Given the description of an element on the screen output the (x, y) to click on. 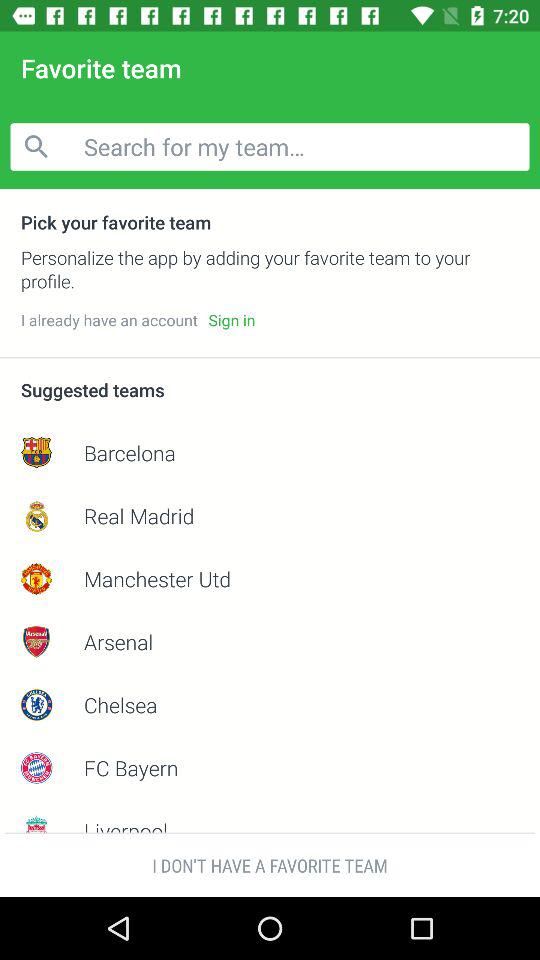
swipe to i don t (270, 864)
